Given the description of an element on the screen output the (x, y) to click on. 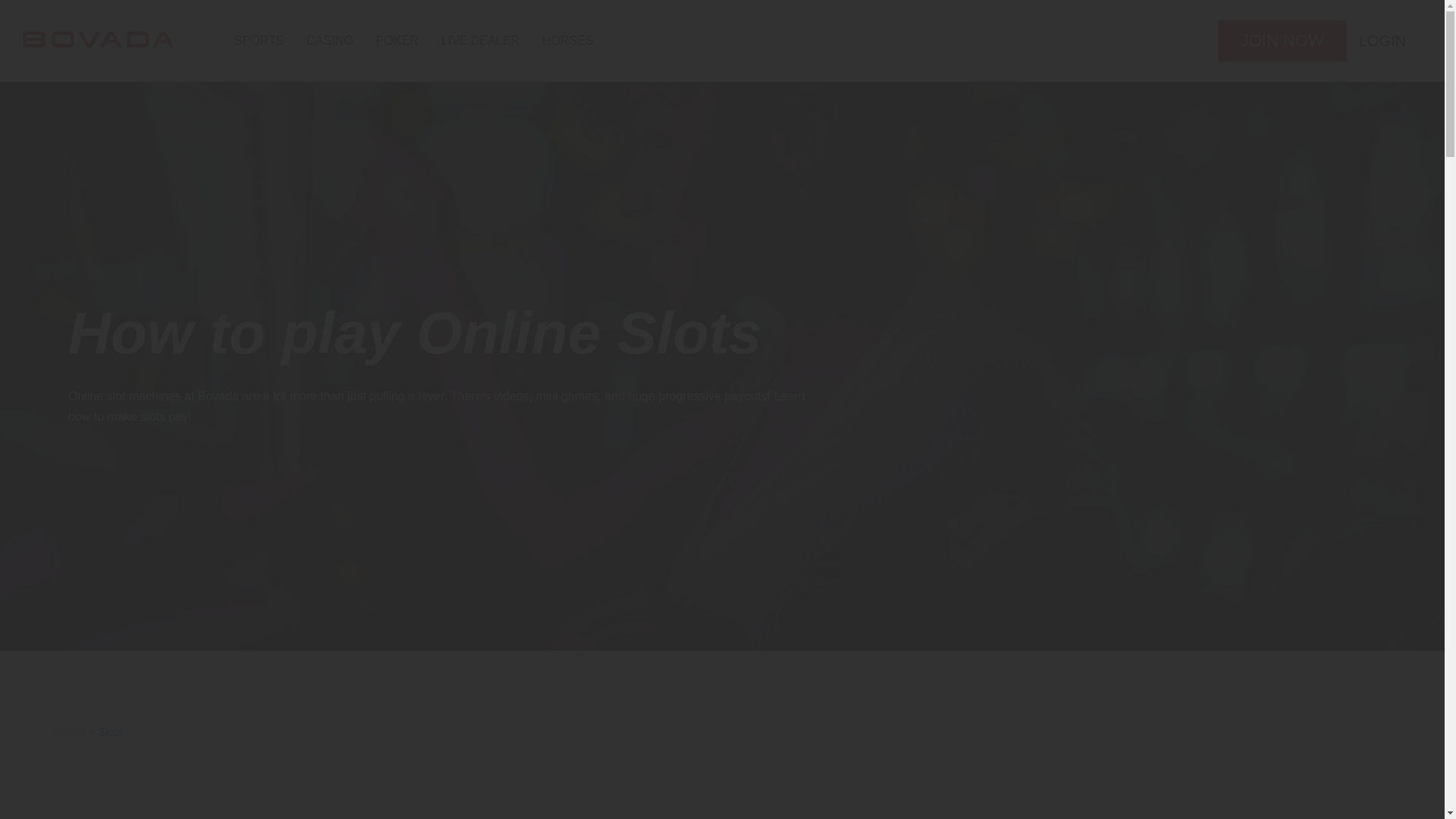
HORSES (567, 40)
LOGIN (1382, 40)
CASINO (328, 40)
Casino (68, 731)
LIVE DEALER (480, 40)
SPORTS (258, 40)
JOIN NOW (1281, 40)
POKER (397, 40)
